Given the description of an element on the screen output the (x, y) to click on. 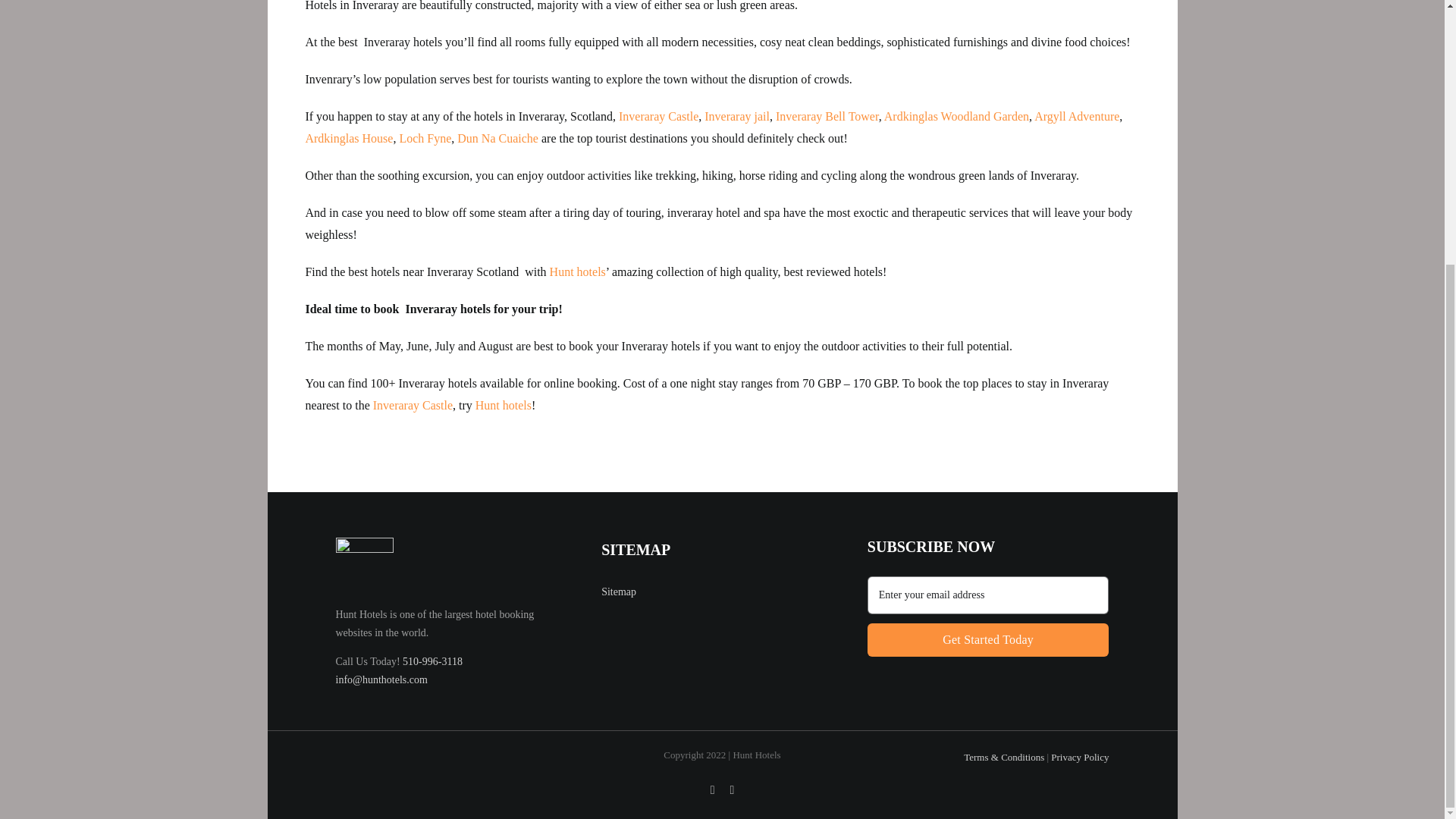
Sitemap (618, 591)
510-996-3118 (433, 661)
Argyll Adventure (1076, 115)
Privacy Policy (988, 607)
Hunt hotels (1079, 756)
Get Started Today (503, 404)
Hunt hotels (988, 639)
Inveraray Bell Tower (577, 271)
Dun Na Cuaiche (827, 115)
